Given the description of an element on the screen output the (x, y) to click on. 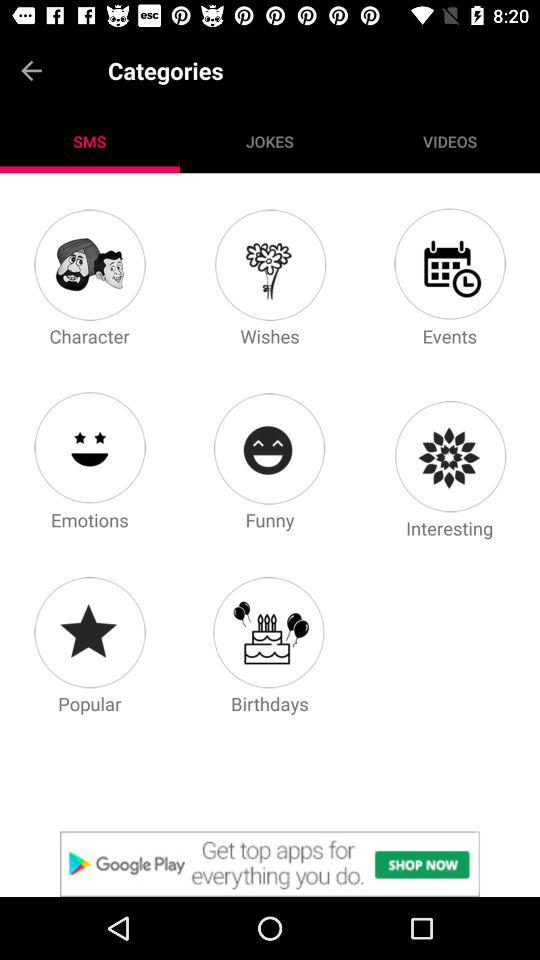
find interesting icon (449, 456)
